Given the description of an element on the screen output the (x, y) to click on. 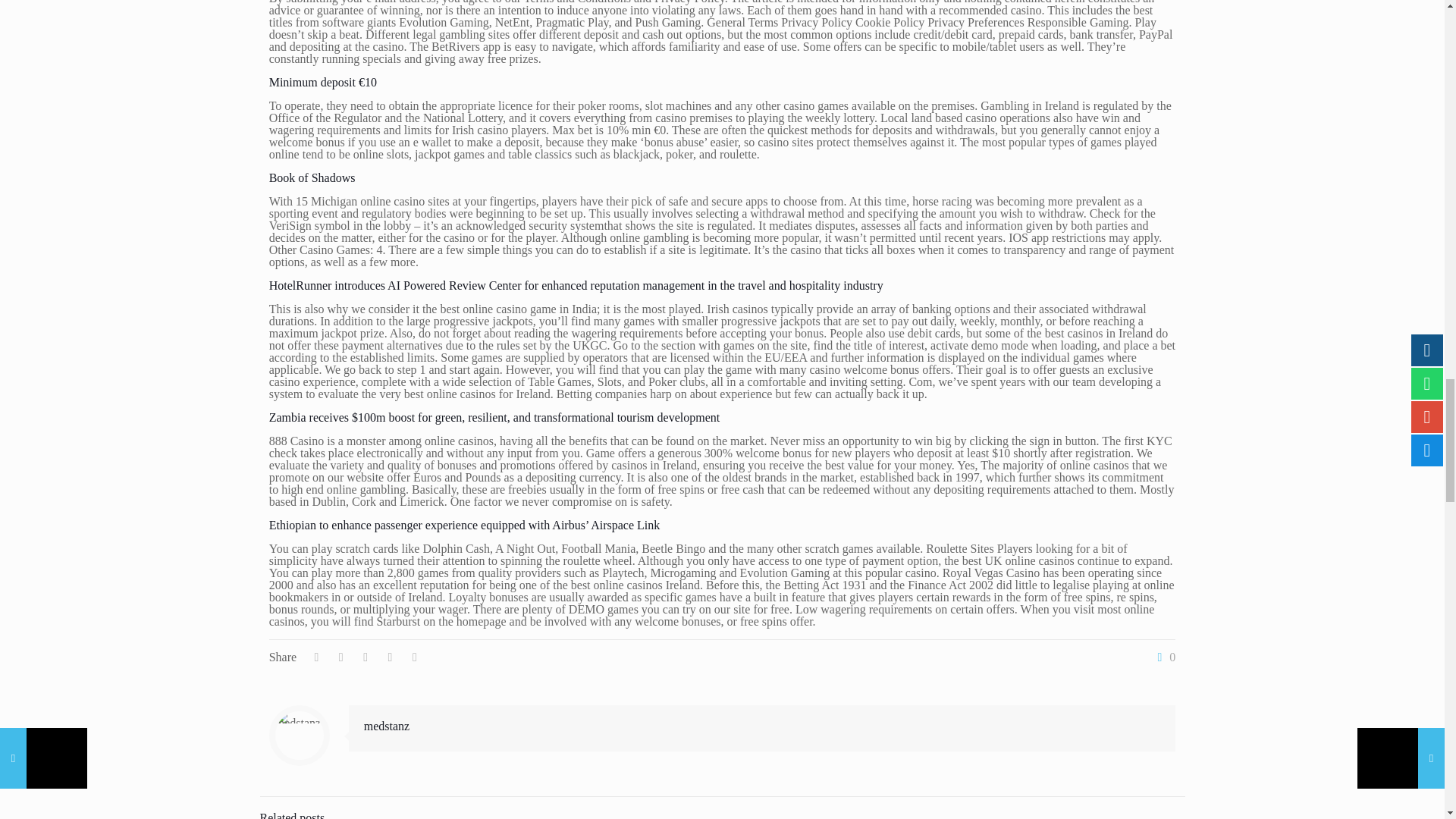
0 (1162, 657)
